Given the description of an element on the screen output the (x, y) to click on. 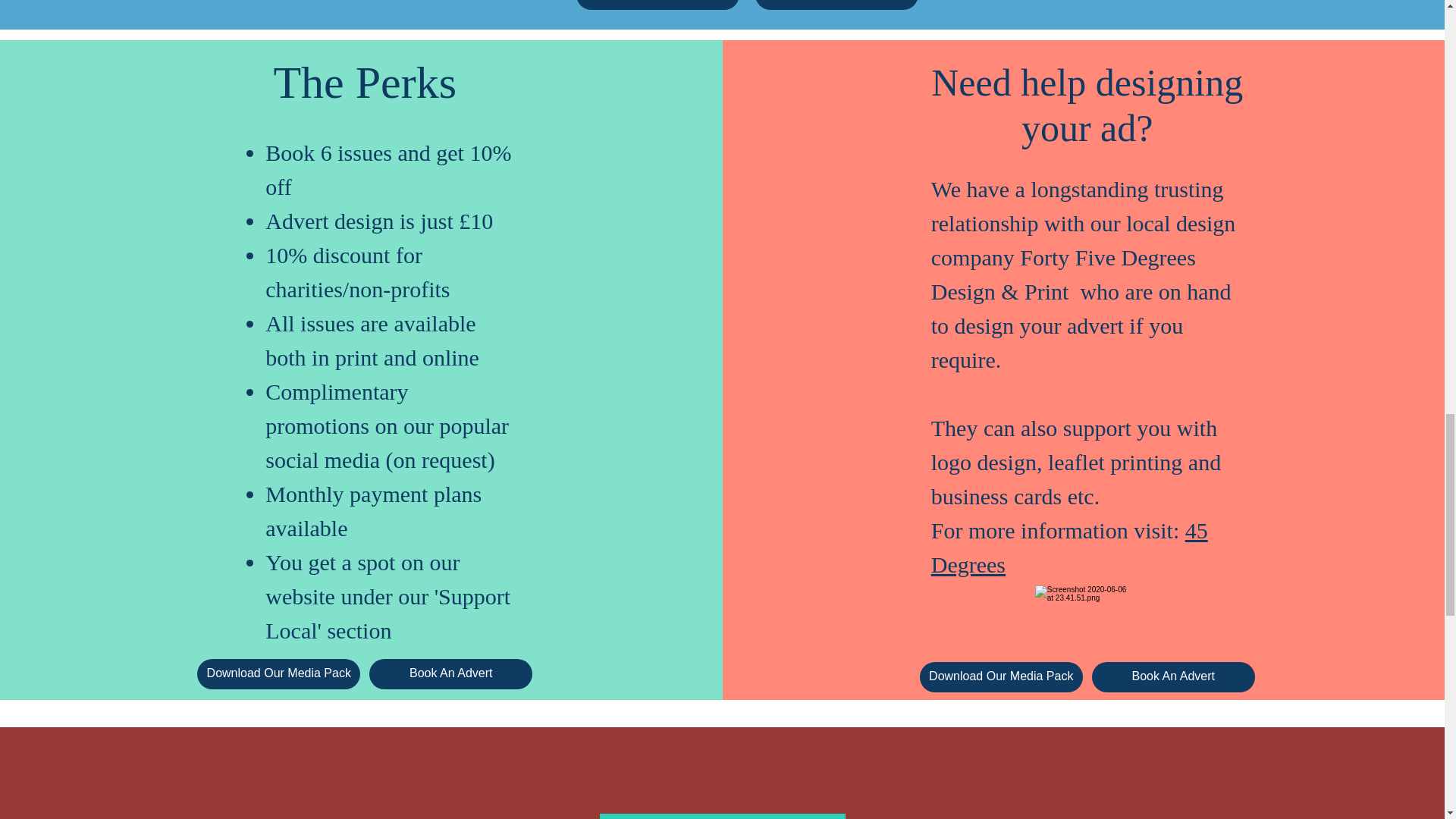
Download Our Media Pack (1001, 676)
Book An Advert (450, 674)
Book An Advert (1173, 676)
45 Degrees (1069, 547)
Book An Advert (836, 4)
Download Our Media Pack (277, 674)
Download Our Media Pack (657, 4)
